Given the description of an element on the screen output the (x, y) to click on. 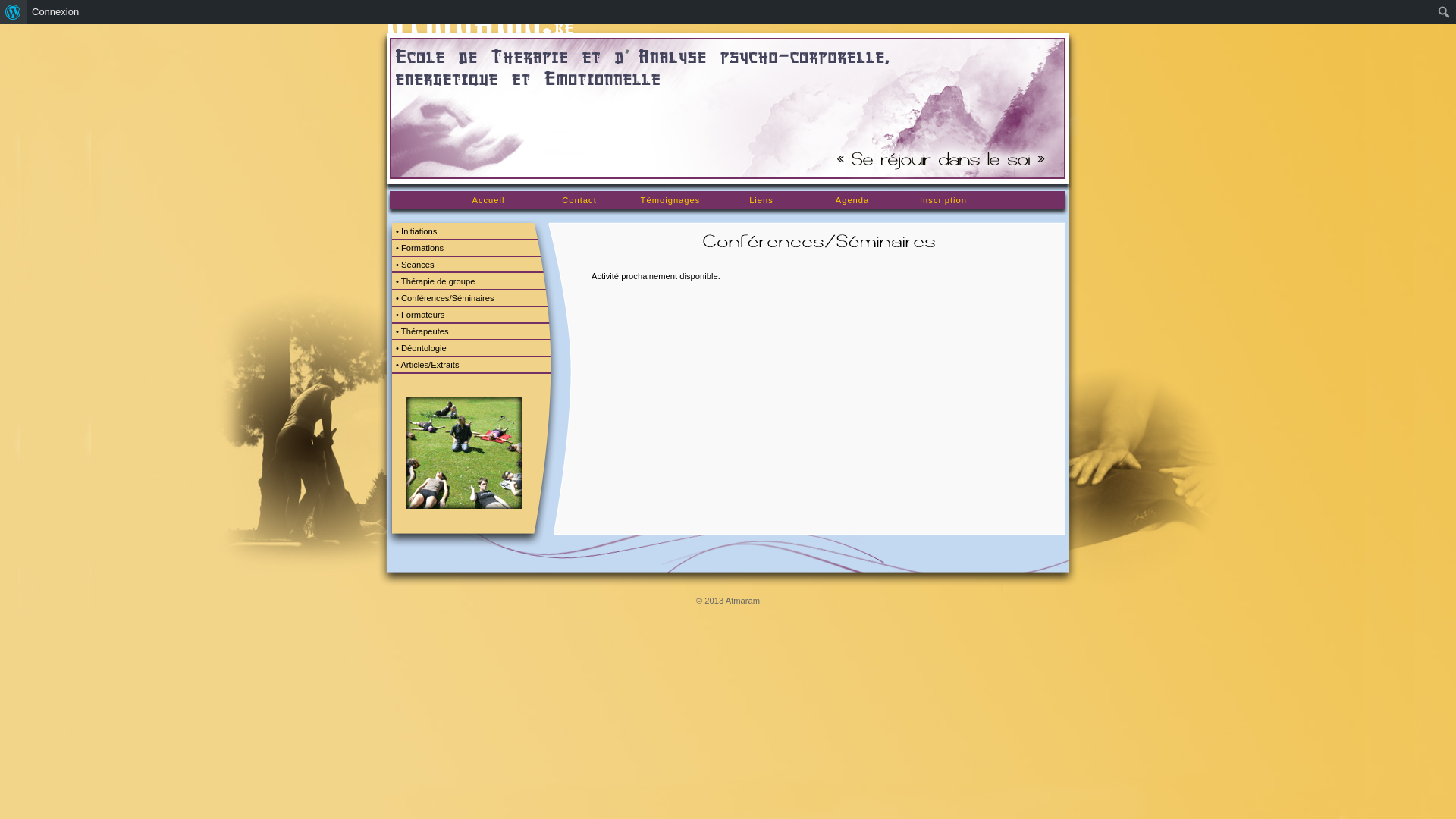
Recherche Element type: text (25, 13)
Connexion Element type: text (55, 12)
Inscription Element type: text (942, 200)
Contact Element type: text (578, 200)
Liens Element type: text (760, 200)
Agenda Element type: text (851, 200)
Accueil Element type: text (487, 200)
